Given the description of an element on the screen output the (x, y) to click on. 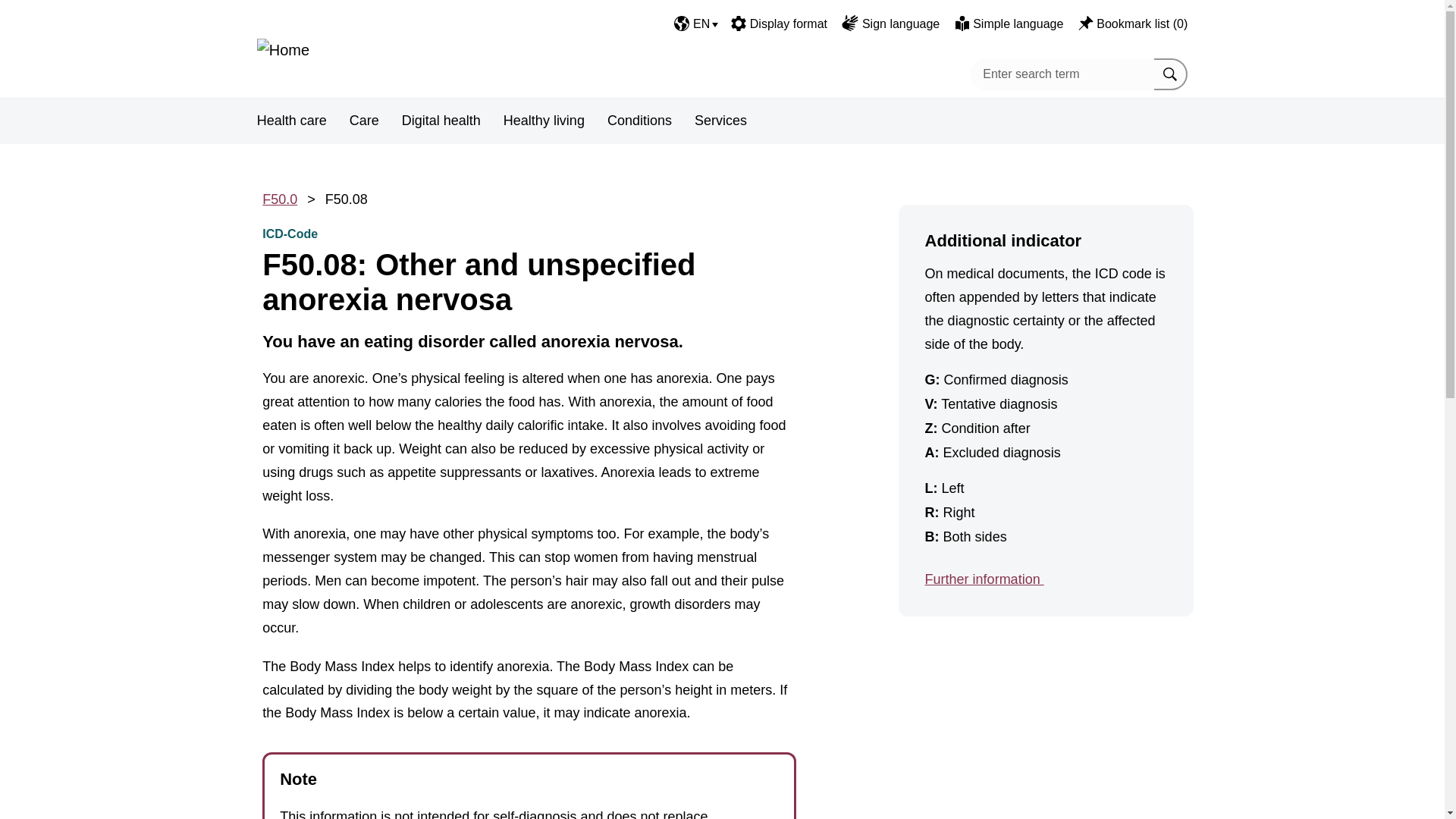
Display format Display format (778, 24)
Sign language Sign language (890, 24)
Bookmark list (1085, 22)
Search (1171, 73)
Search (1171, 73)
Simple language (962, 22)
Health care (291, 121)
Digital health (440, 121)
Digital health (440, 121)
Display format (737, 22)
